Given the description of an element on the screen output the (x, y) to click on. 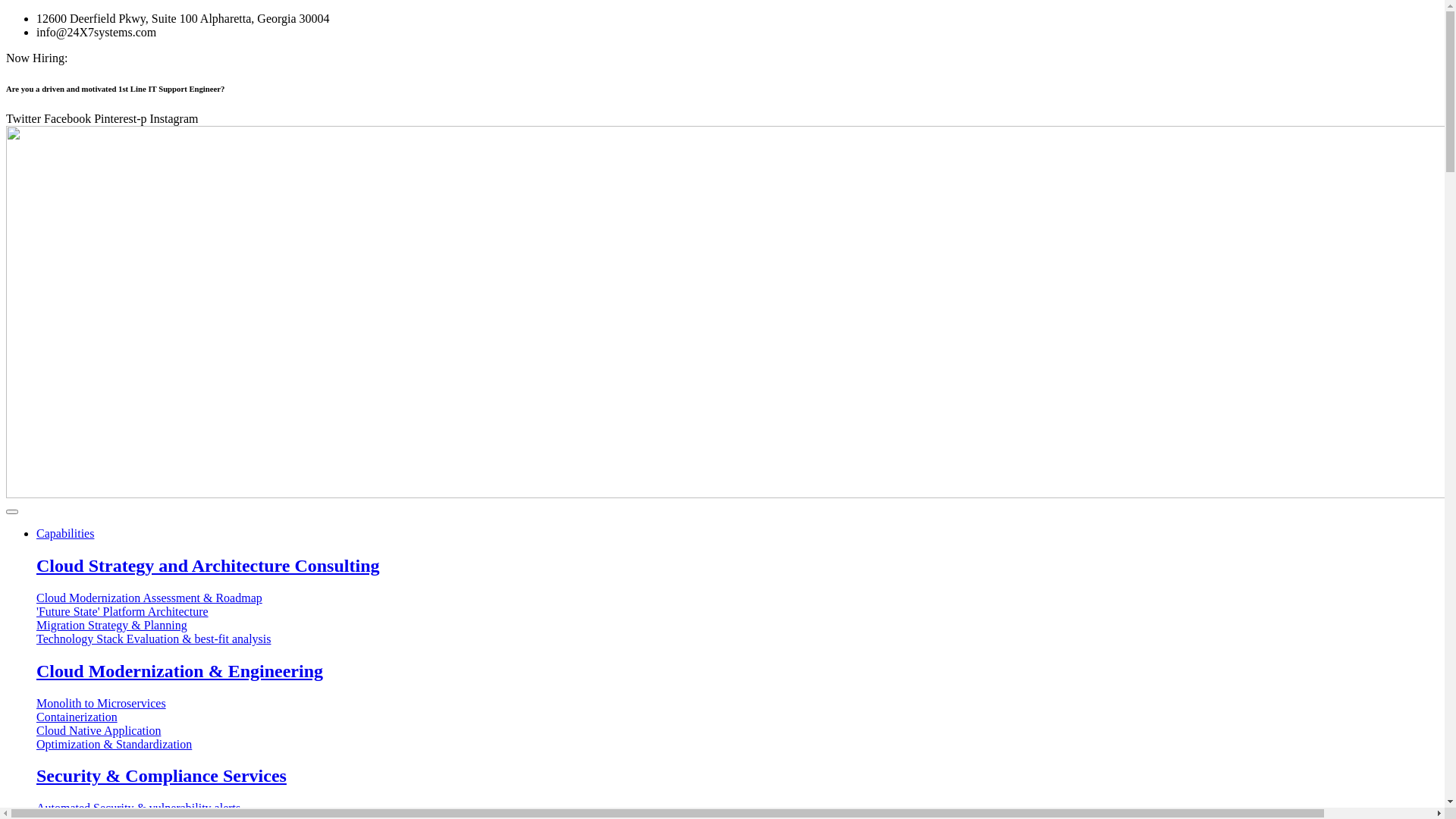
Cloud Modernization Assessment & Roadmap Element type: text (551, 598)
Facebook Element type: text (68, 118)
Pinterest-p Element type: text (121, 118)
Automated Security & vulnerability alerts Element type: text (551, 808)
Migration Strategy & Planning Element type: text (551, 625)
Cloud Native Application Element type: text (551, 730)
Technology Stack Evaluation & best-fit analysis Element type: text (551, 639)
Security & Compliance Services Element type: text (551, 775)
Optimization & Standardization Element type: text (551, 744)
Cloud Strategy and Architecture Consulting Element type: text (551, 565)
'Future State' Platform Architecture Element type: text (551, 611)
Twitter Element type: text (24, 118)
Cloud Modernization & Engineering Element type: text (551, 671)
Monolith to Microservices Element type: text (551, 703)
Instagram Element type: text (174, 118)
Containerization Element type: text (551, 717)
Capabilities Element type: text (65, 533)
